Given the description of an element on the screen output the (x, y) to click on. 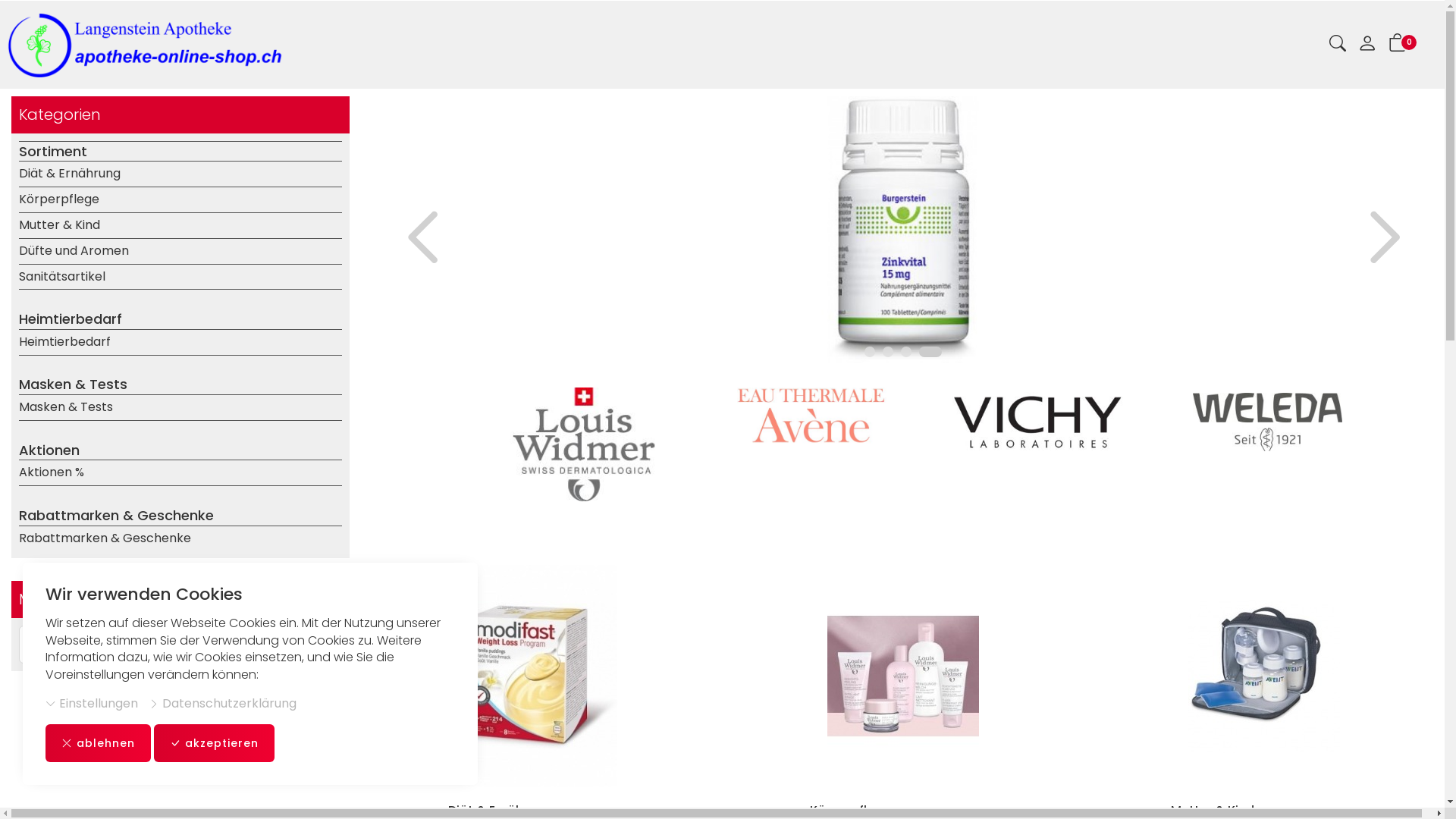
akzeptieren Element type: text (213, 743)
1 Element type: text (869, 351)
Aktionen % Element type: text (180, 472)
Prev Element type: text (391, 250)
ablehnen Element type: text (97, 743)
Masken & Tests Element type: text (180, 407)
Rabattmarken & Geschenke Element type: text (180, 538)
4 Element type: text (930, 351)
2 Element type: text (887, 351)
Heimtierbedarf Element type: text (180, 341)
Suche Element type: hover (1337, 45)
3 Element type: text (905, 351)
Anmelden Element type: hover (1367, 46)
Einstellungen Element type: text (91, 703)
0 Element type: text (1397, 45)
Mutter & Kind Element type: text (180, 225)
Next Element type: text (1413, 250)
